Given the description of an element on the screen output the (x, y) to click on. 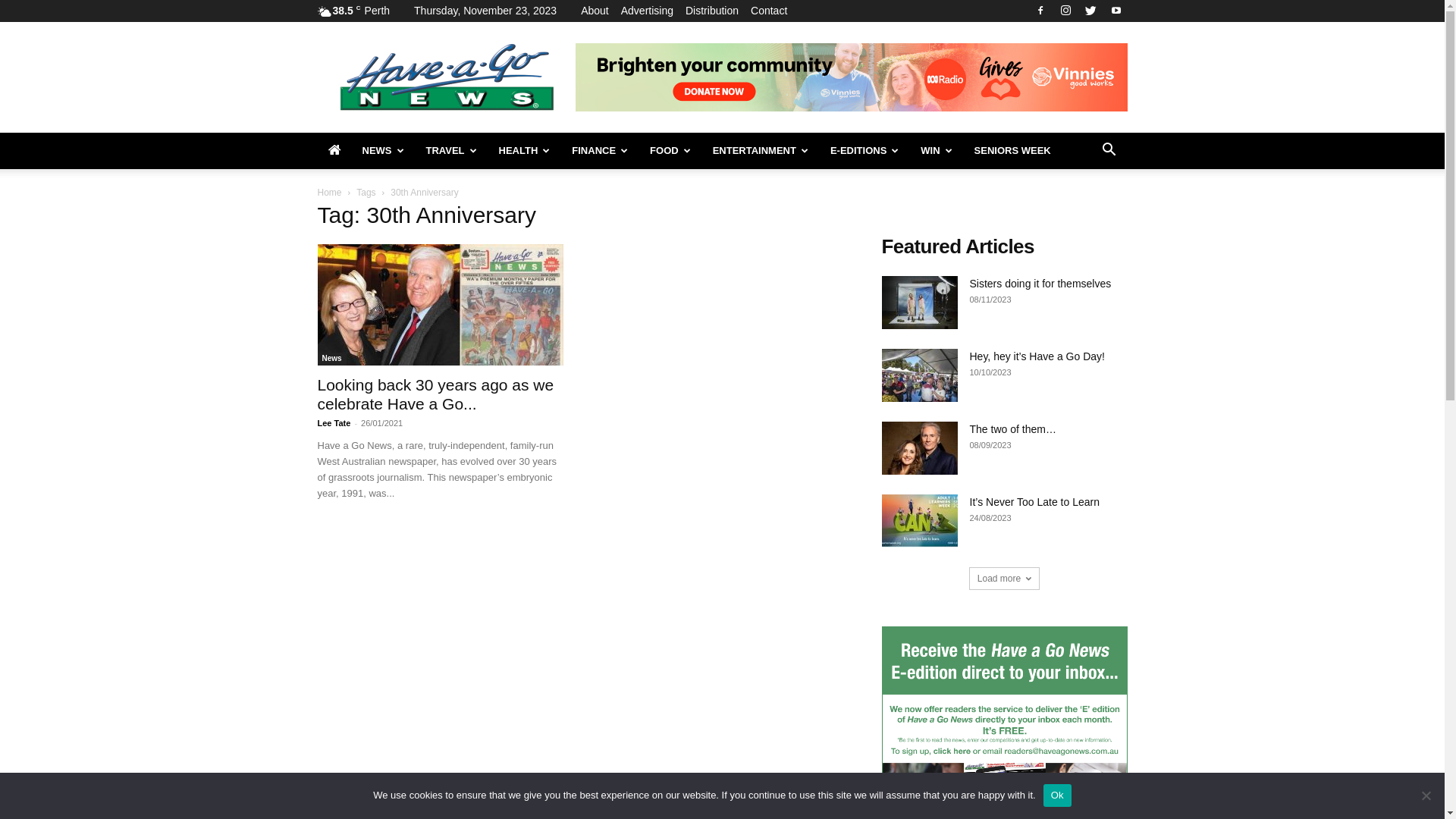
ENTERTAINMENT Element type: text (760, 150)
Lee Tate Element type: text (333, 422)
Search Element type: text (1084, 211)
TRAVEL Element type: text (451, 150)
Facebook Element type: hover (1040, 10)
Sisters doing it for themselves Element type: hover (919, 302)
Youtube Element type: hover (1115, 10)
FINANCE Element type: text (600, 150)
E-EDITIONS Element type: text (864, 150)
Distribution Element type: text (711, 10)
Looking back 30 years ago as we celebrate Have a Go... Element type: text (434, 394)
About Element type: text (594, 10)
WIN Element type: text (936, 150)
Twitter Element type: hover (1090, 10)
Load more Element type: text (1004, 578)
Sisters doing it for themselves Element type: text (1039, 283)
Home Element type: text (328, 192)
FOOD Element type: text (670, 150)
Instagram Element type: hover (1065, 10)
Advertising Element type: text (647, 10)
Contact Element type: text (768, 10)
SENIORS WEEK Element type: text (1012, 150)
Ok Element type: text (1057, 795)
NEWS Element type: text (383, 150)
HEALTH Element type: text (524, 150)
News Element type: text (330, 358)
